Given the description of an element on the screen output the (x, y) to click on. 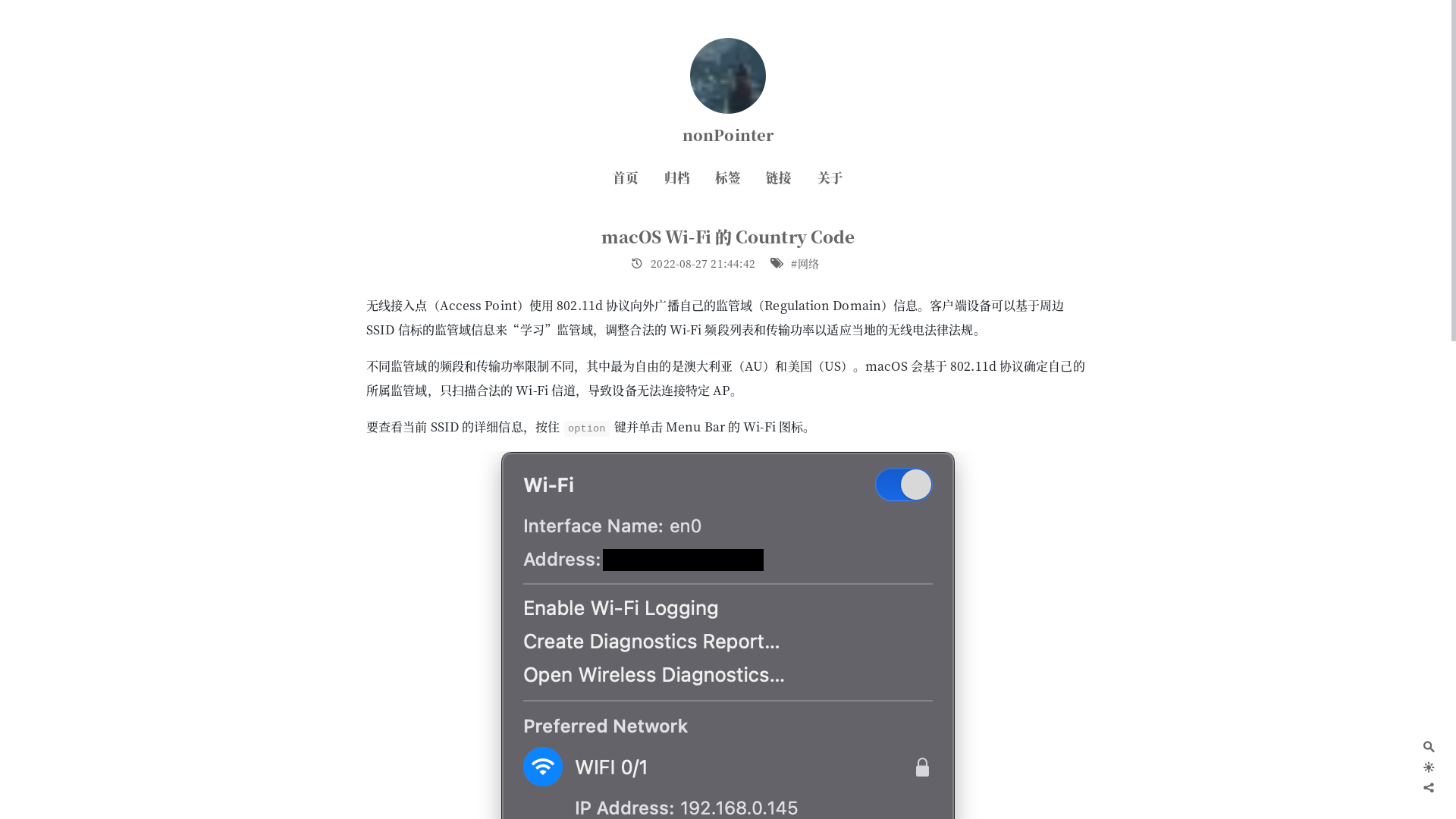
nonPointer Element type: text (727, 134)
Update time Element type: hover (636, 263)
Tags Element type: hover (776, 263)
